Given the description of an element on the screen output the (x, y) to click on. 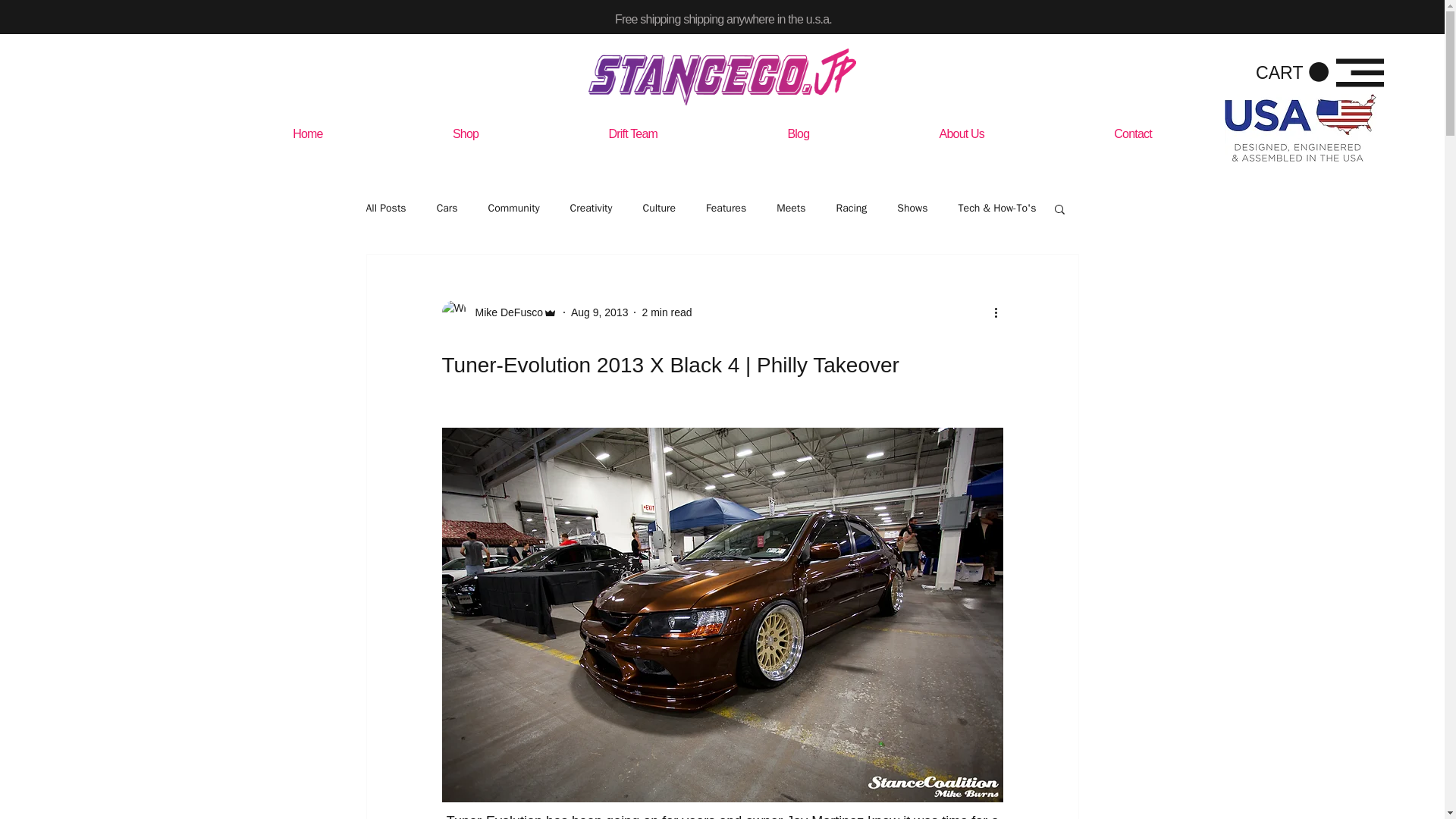
Cars (447, 208)
Mike DeFusco (503, 312)
CART (1291, 72)
Meets (790, 208)
All Posts (385, 208)
About Us (962, 133)
Shop (465, 133)
Shows (911, 208)
USA-1.jpg (1299, 127)
Contact (1133, 133)
Aug 9, 2013 (599, 312)
2 min read (666, 312)
Home (307, 133)
Mike DeFusco (498, 312)
CART (1291, 72)
